Given the description of an element on the screen output the (x, y) to click on. 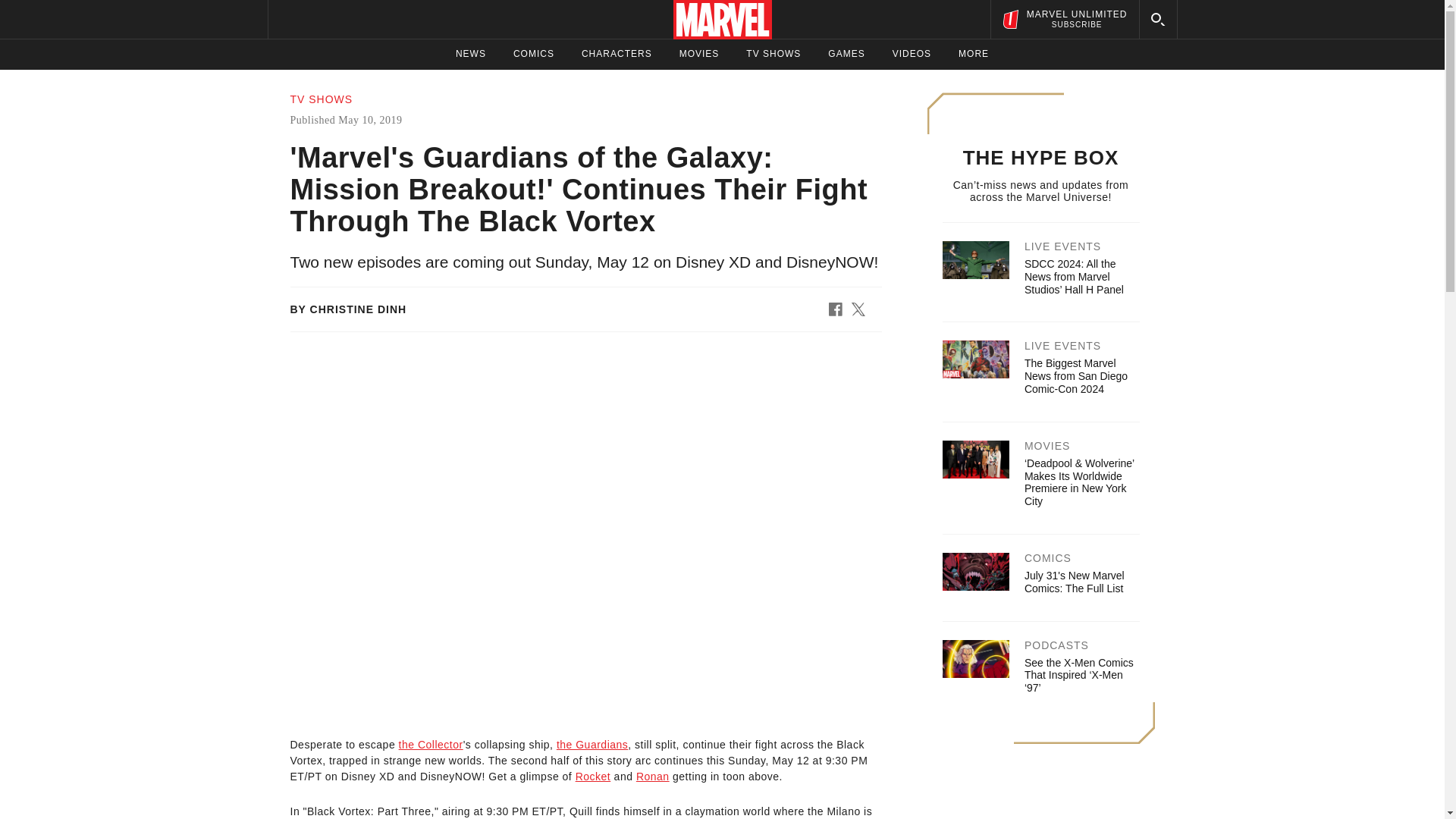
July 31's New Marvel Comics: The Full List (1074, 581)
COMICS (533, 54)
MORE (973, 54)
VIDEOS (911, 54)
MOVIES (699, 54)
the Collector (430, 744)
GAMES (1064, 19)
the Guardians (846, 54)
NEWS (591, 744)
